Given the description of an element on the screen output the (x, y) to click on. 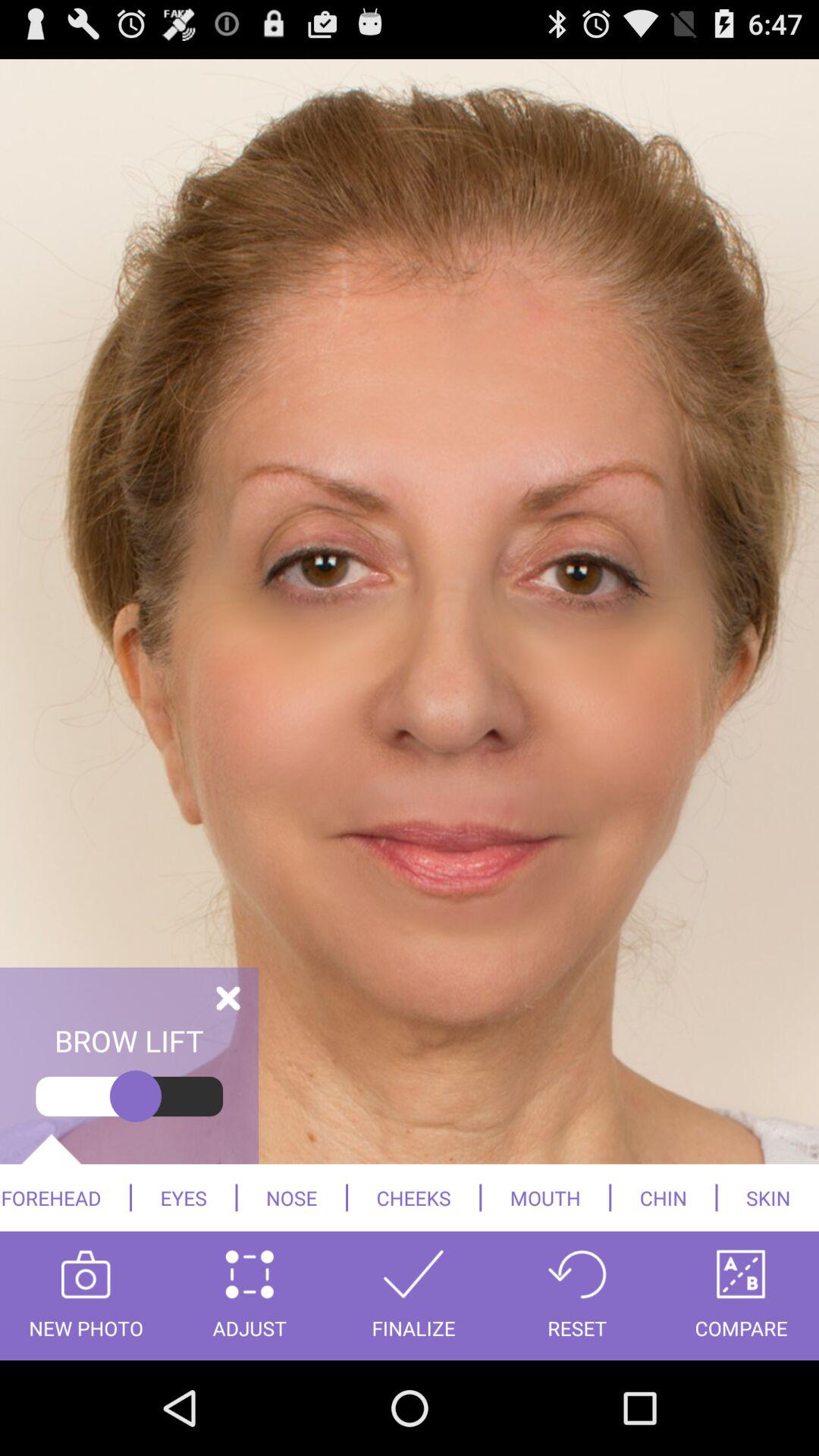
swipe until forehead app (64, 1197)
